Given the description of an element on the screen output the (x, y) to click on. 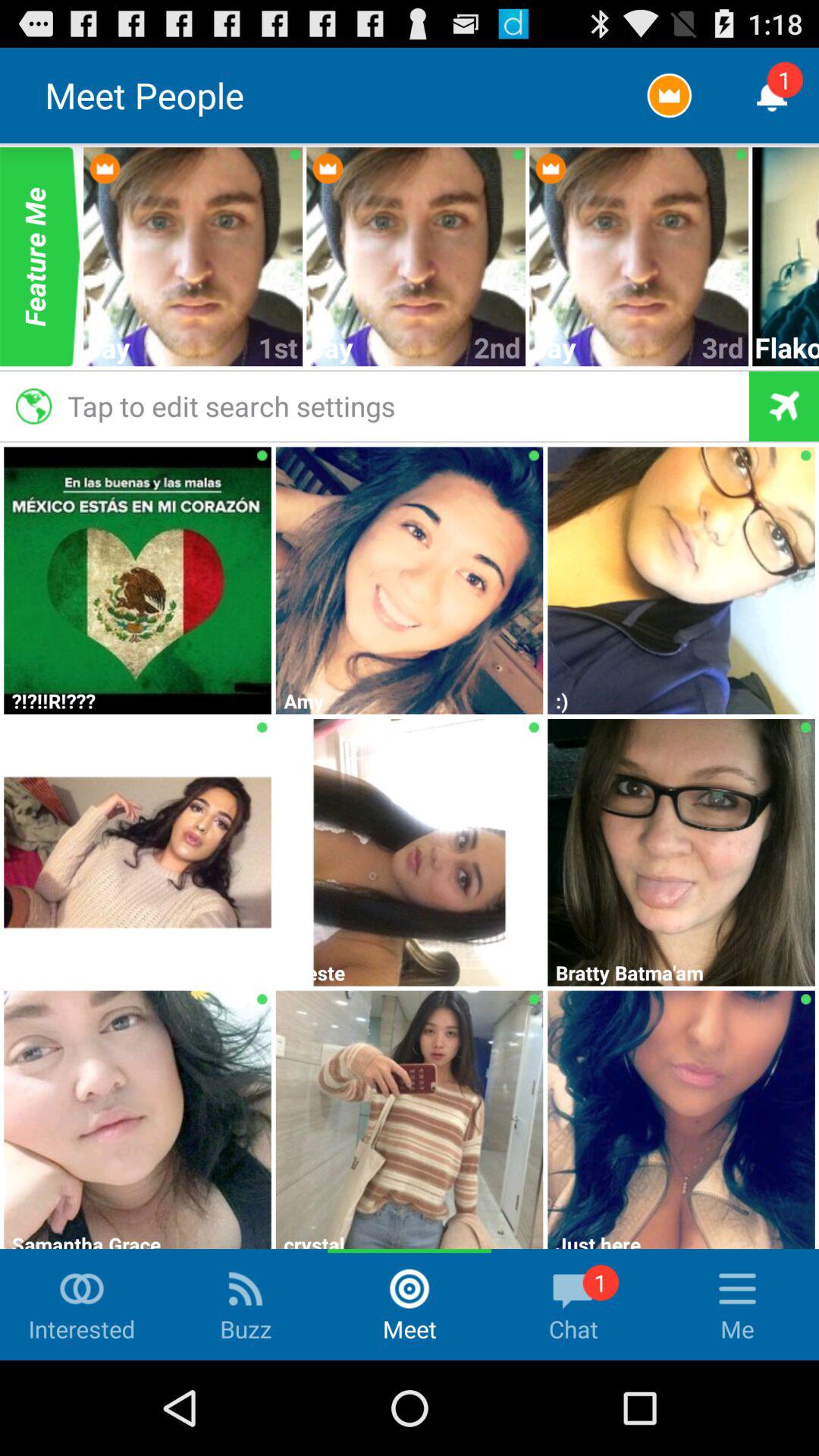
select the image second column second image (409, 578)
click on icon on the right side of meet people (668, 95)
click on the 3rd image from left in the last row at the bottom of the page (681, 1118)
